Given the description of an element on the screen output the (x, y) to click on. 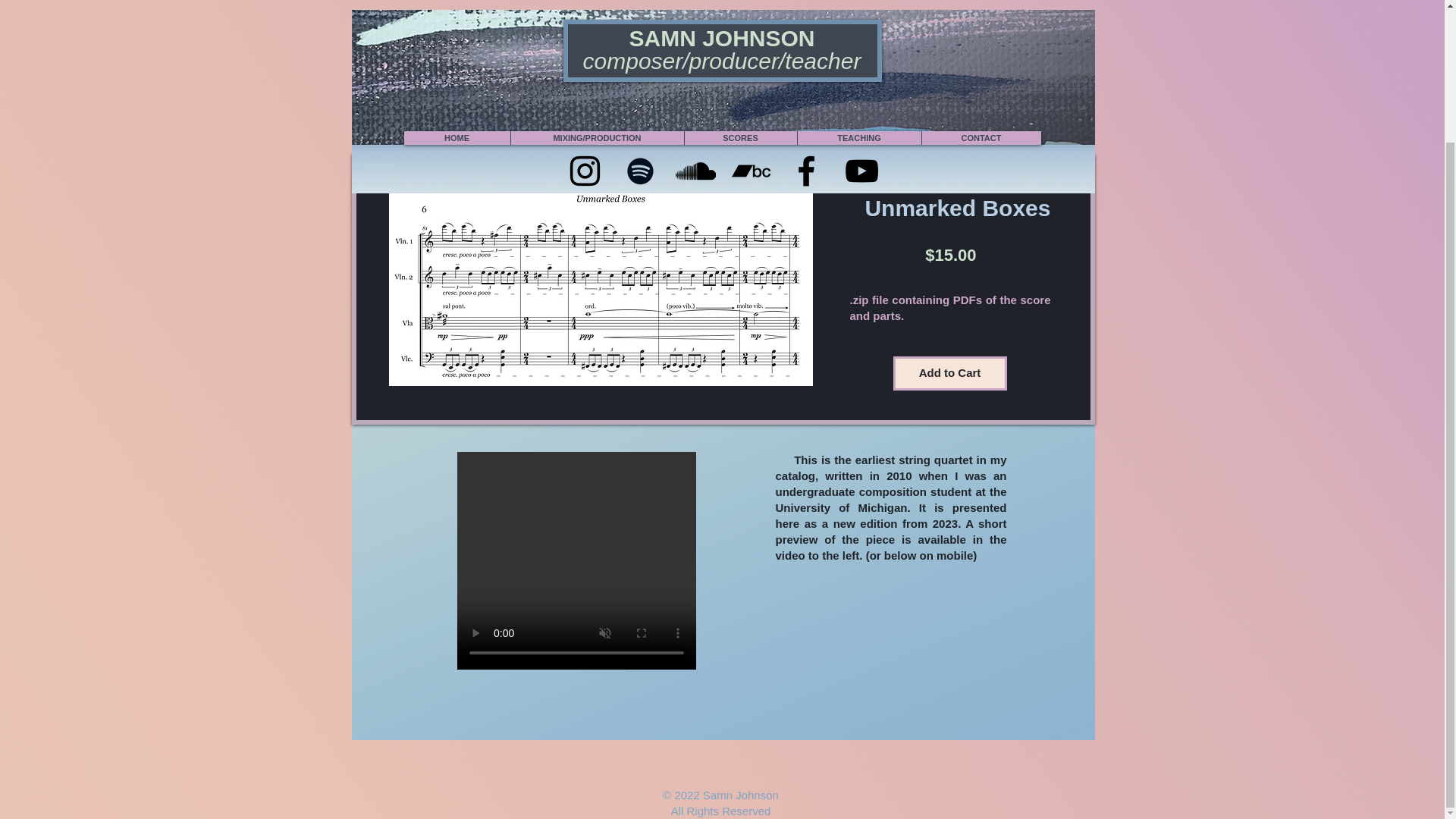
Add to Cart (950, 373)
